Given the description of an element on the screen output the (x, y) to click on. 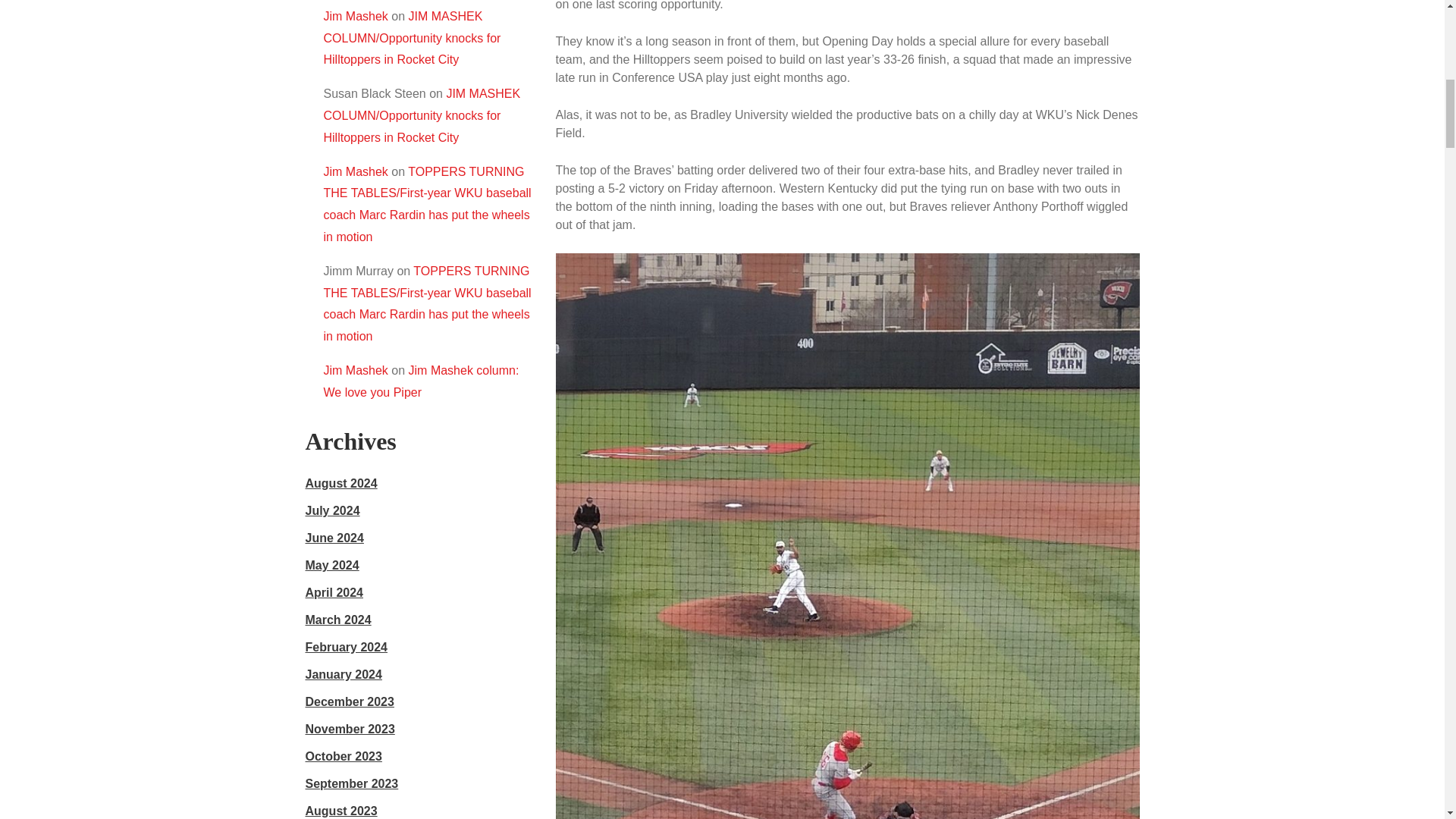
Jim Mashek (355, 15)
Jim Mashek (355, 171)
July 2024 (331, 510)
May 2024 (331, 564)
March 2024 (337, 619)
Jim Mashek (355, 369)
June 2024 (333, 537)
August 2024 (340, 482)
Jim Mashek column: We love you Piper (420, 380)
April 2024 (333, 592)
